Given the description of an element on the screen output the (x, y) to click on. 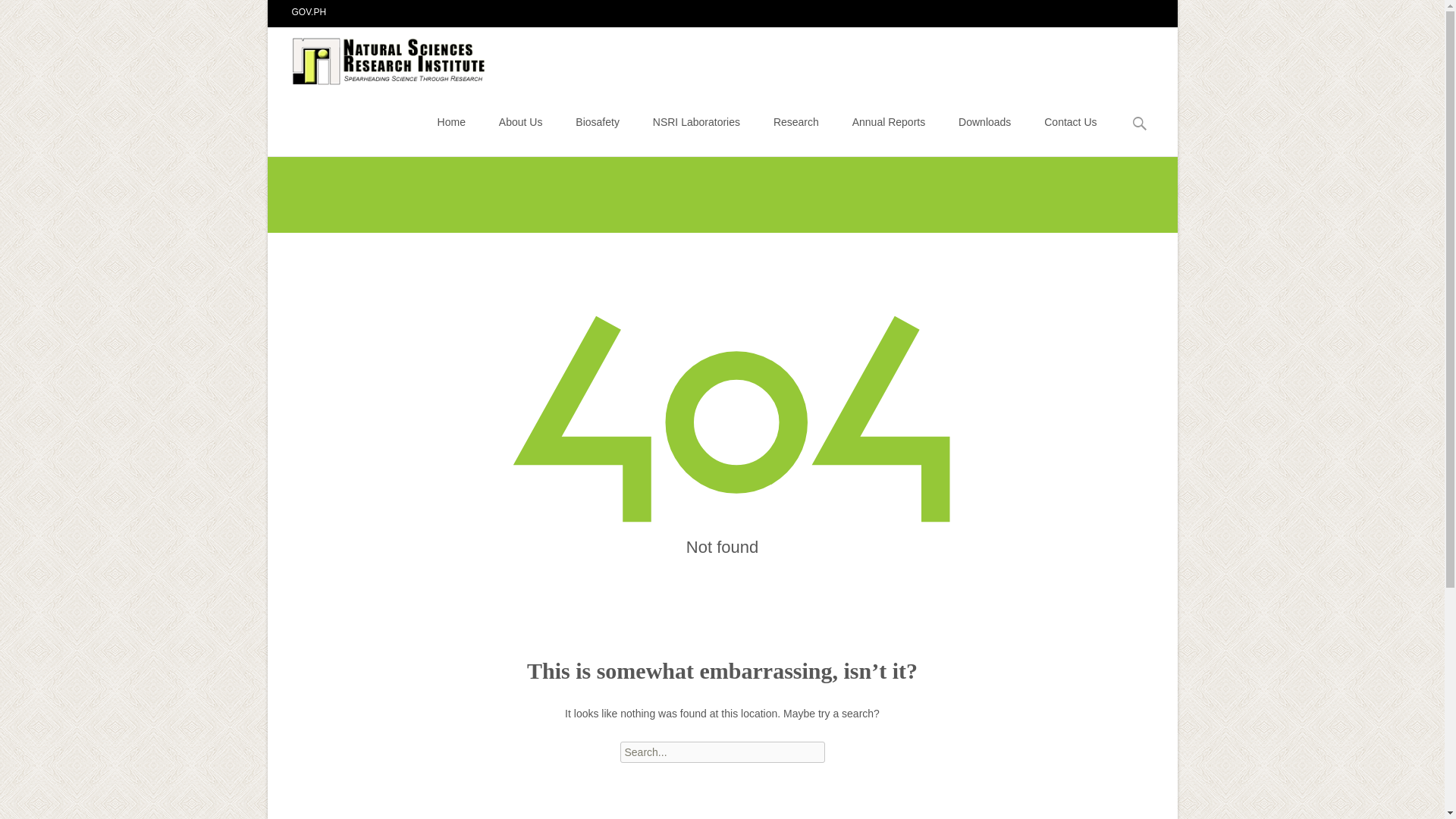
Natural Sciences Research Institute (378, 57)
Search for: (722, 752)
NSRI Laboratories (695, 121)
Search for: (1139, 123)
GOV.PH (308, 11)
Search (18, 14)
Annual Reports (888, 121)
Search (34, 14)
